Given the description of an element on the screen output the (x, y) to click on. 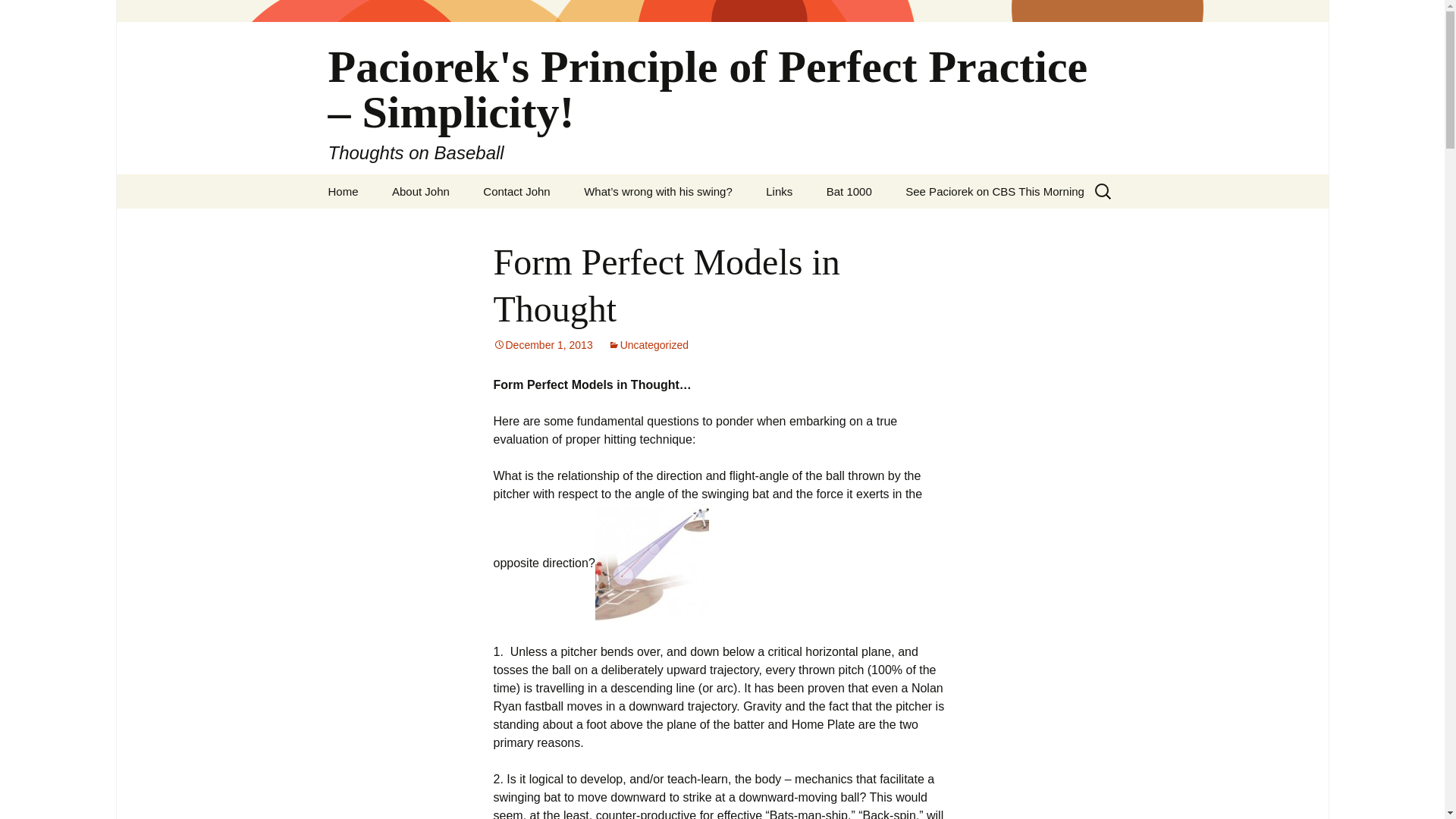
Home (342, 191)
Permalink to Form Perfect Models in Thought (542, 345)
Home (342, 191)
Links (779, 191)
See Paciorek on CBS This Morning (994, 191)
About John (420, 191)
Uncategorized (648, 345)
December 1, 2013 (542, 345)
Bat 1000 (848, 191)
Contact John (515, 191)
Search (18, 15)
